Given the description of an element on the screen output the (x, y) to click on. 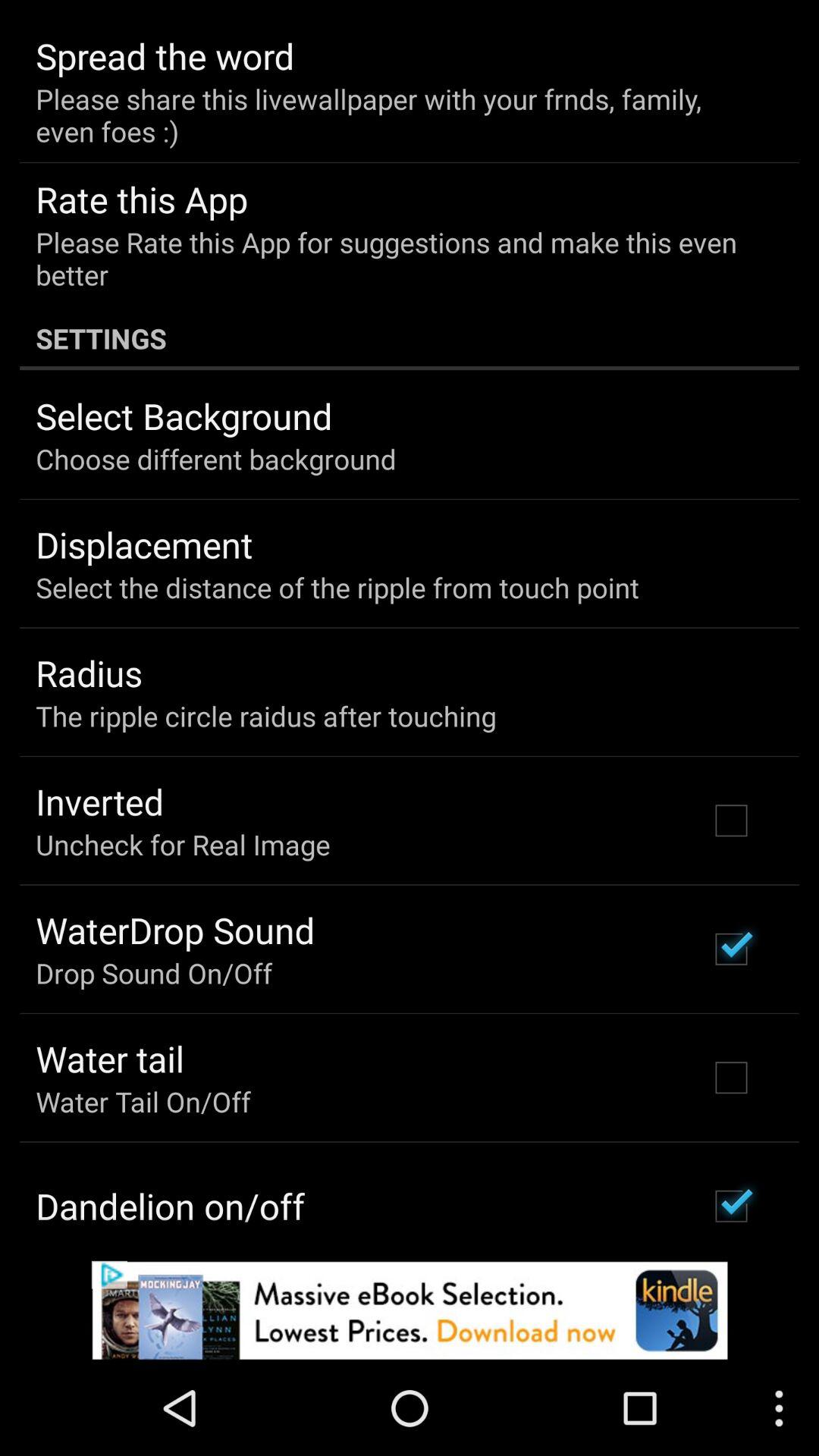
pop up advertisement (409, 1310)
